Given the description of an element on the screen output the (x, y) to click on. 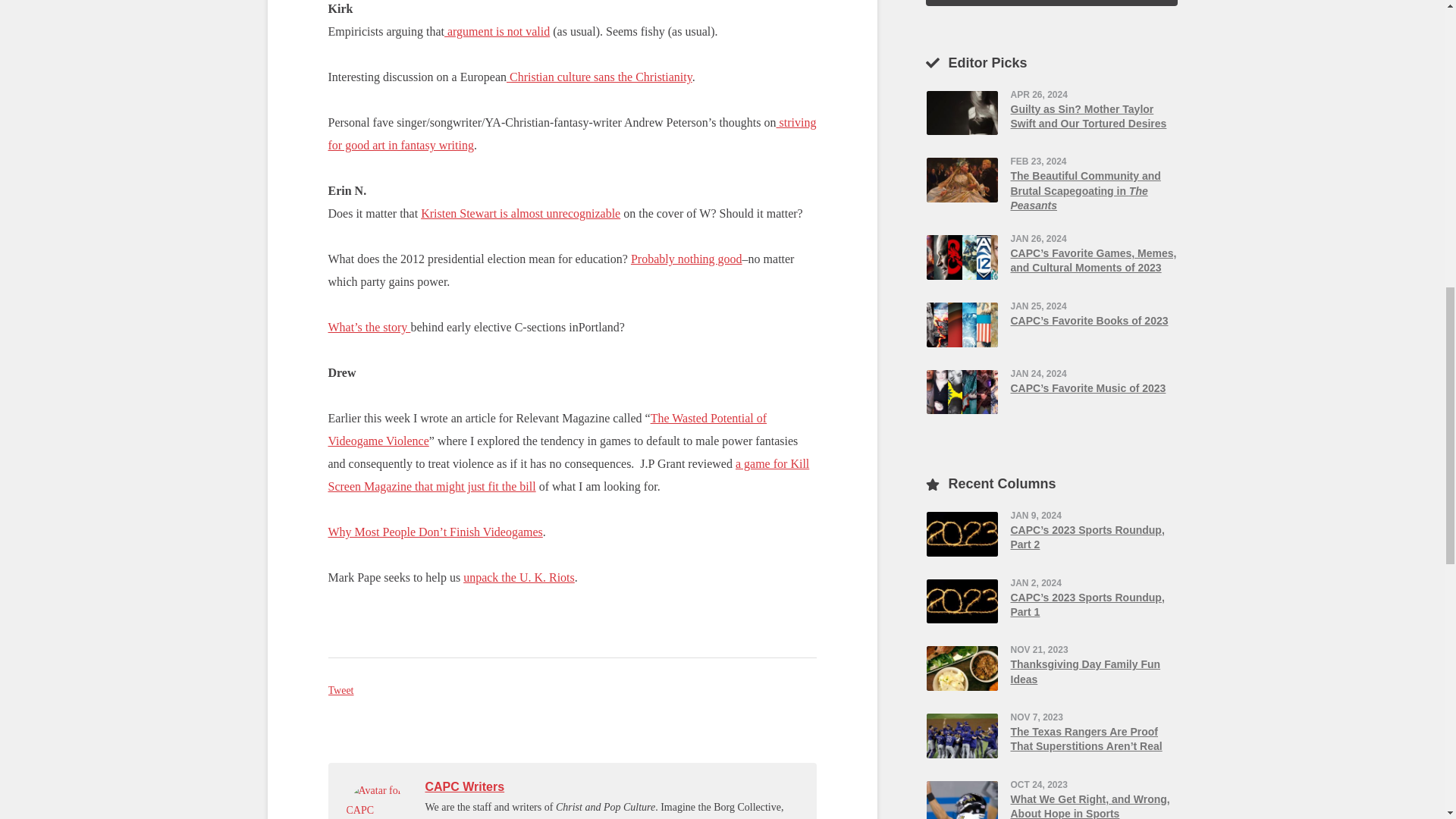
 argument is not valid (497, 31)
Probably nothing good (686, 258)
unpack the U. K. Riots (519, 576)
The Wasted Potential of Videogame Violence (547, 429)
 Christian culture sans the Christianity (599, 76)
Kristen Stewart is almost unrecognizable (520, 213)
 striving for good art in fantasy writing (571, 133)
a game for Kill Screen Magazine that might just fit the bill (568, 475)
